Given the description of an element on the screen output the (x, y) to click on. 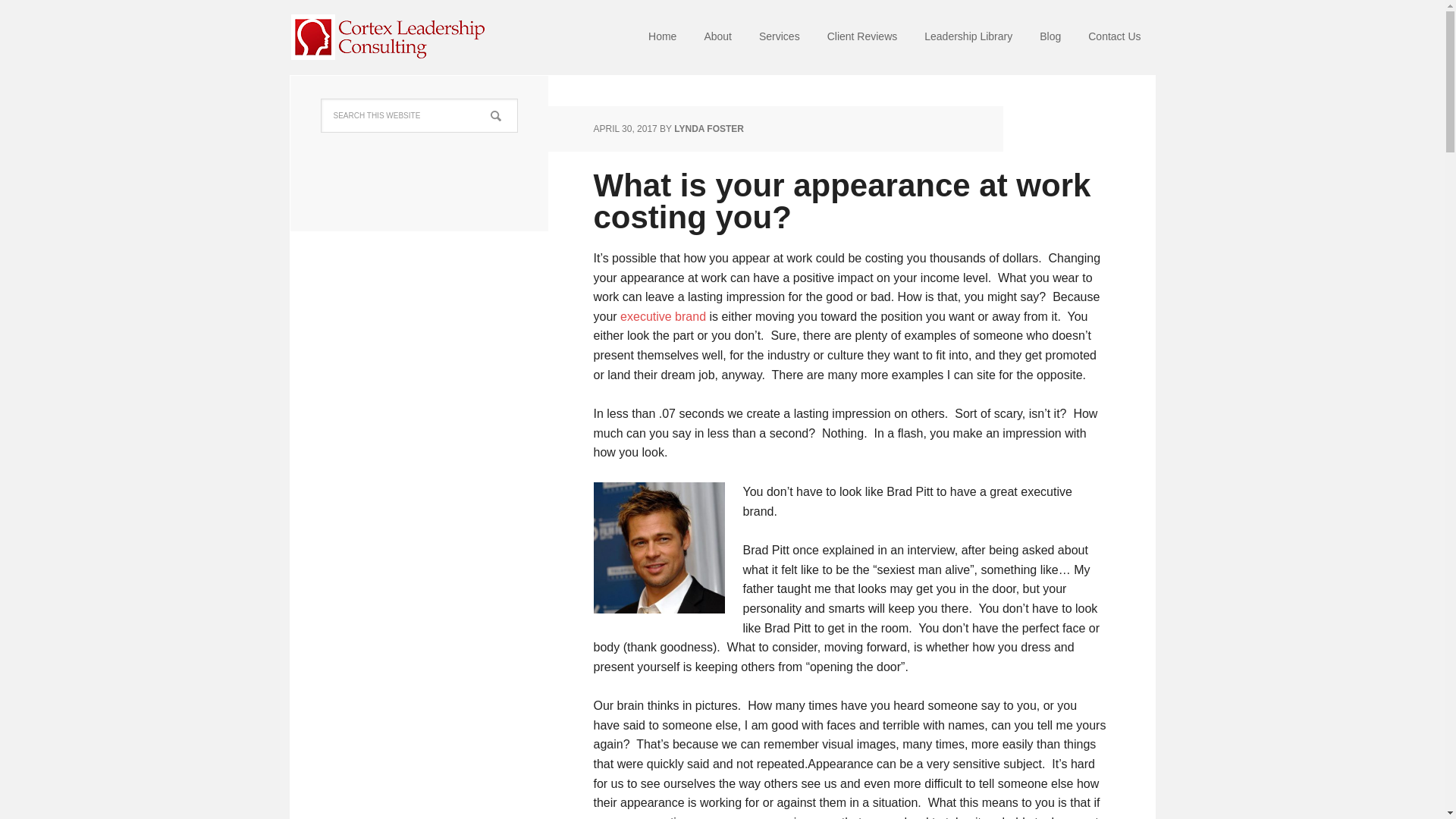
Services (779, 37)
Cortex Leadership Consulting (387, 38)
executive brand (663, 316)
LYNDA FOSTER (709, 128)
What is your appearance at work costing you? (841, 201)
Contact Us (1114, 37)
Client Reviews (862, 37)
Leadership Library (968, 37)
